Given the description of an element on the screen output the (x, y) to click on. 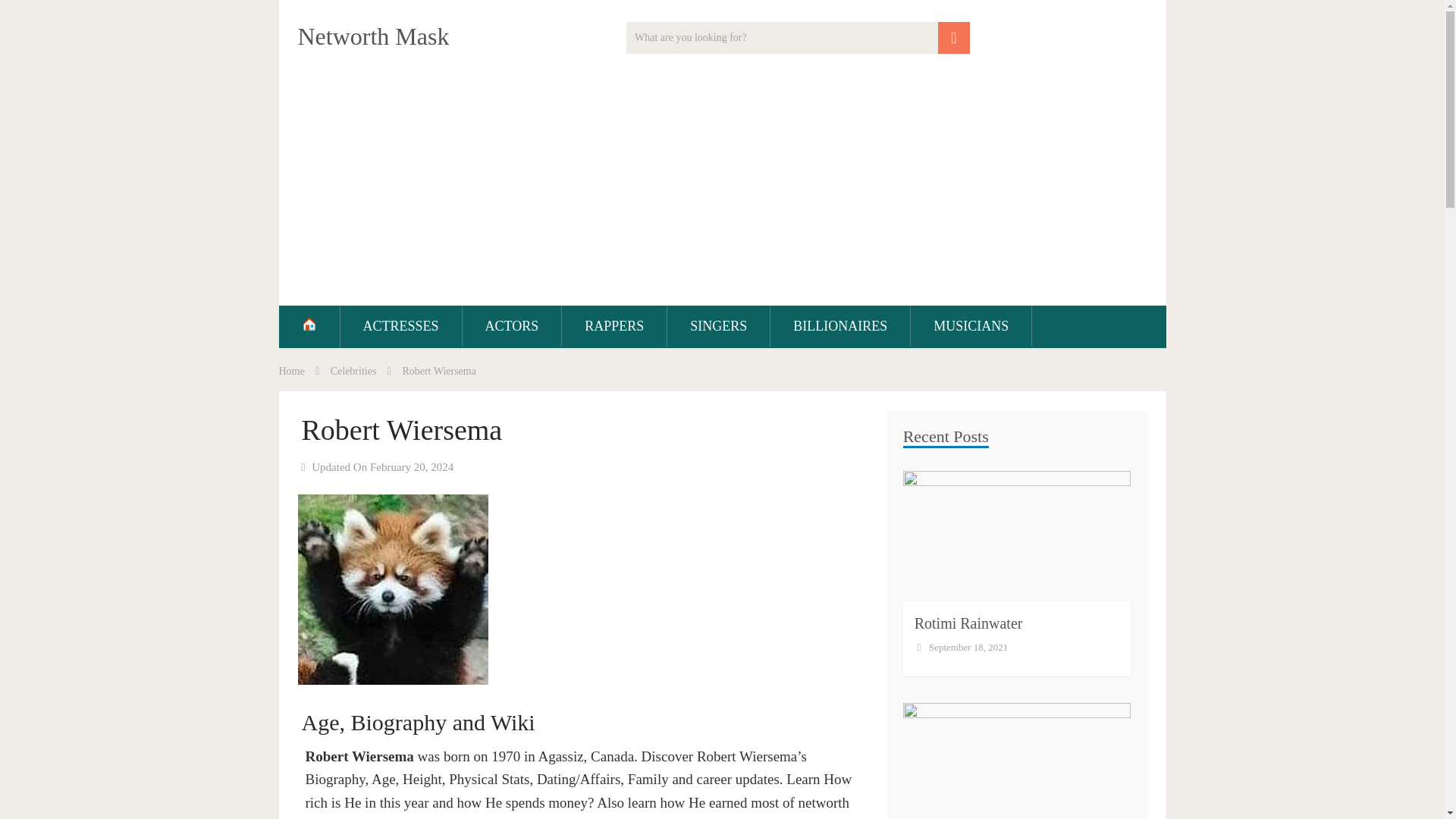
What are you looking for? (797, 38)
ACTORS (512, 325)
RAPPERS (614, 325)
Celebrities (353, 370)
Networth Mask (372, 36)
SINGERS (718, 325)
Rotimi Rainwater (968, 623)
MUSICIANS (970, 325)
ACTRESSES (400, 325)
BILLIONAIRES (840, 325)
Rotimi Rainwater (968, 623)
Home (291, 370)
